Given the description of an element on the screen output the (x, y) to click on. 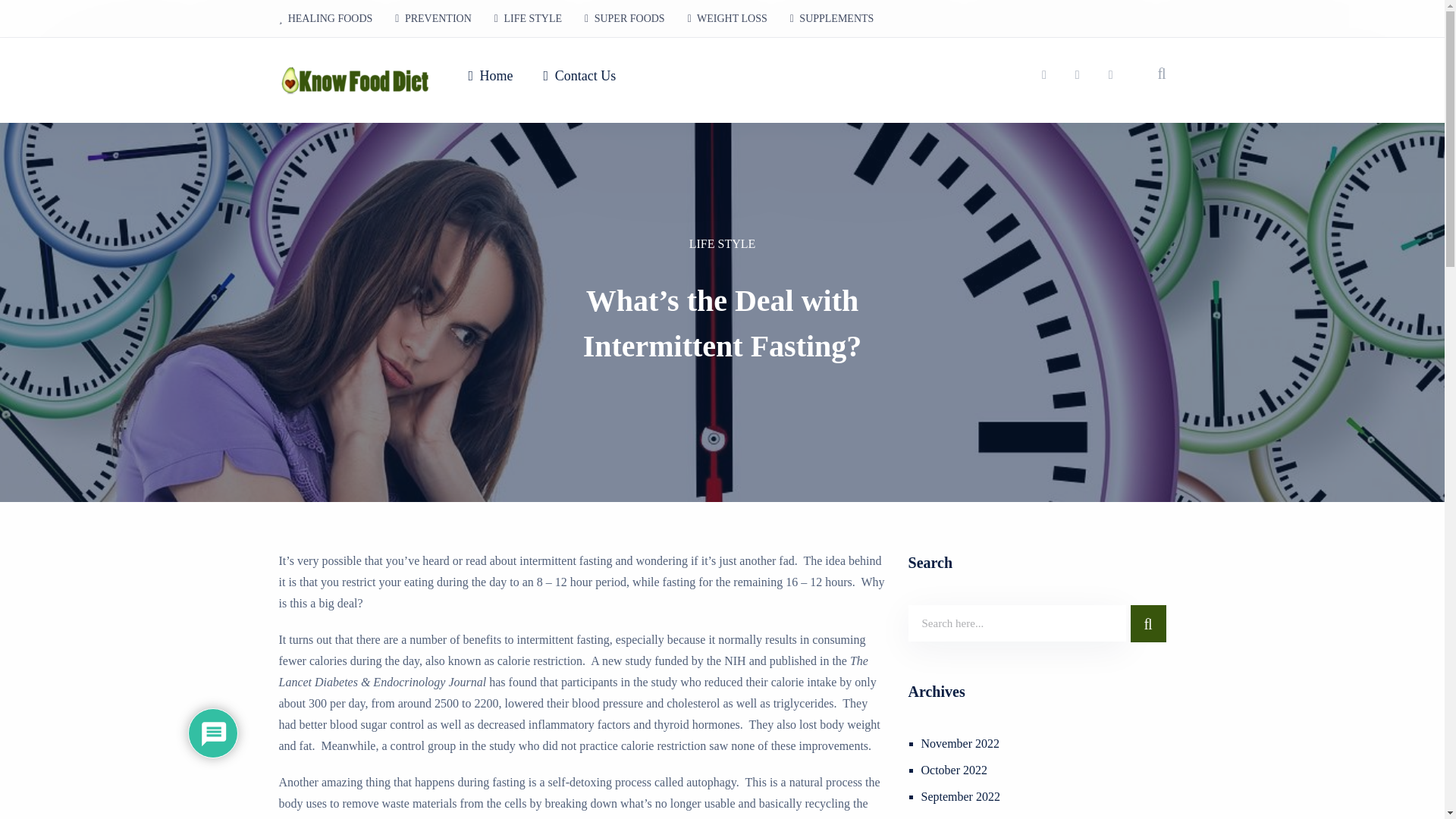
Contact Us (579, 75)
LIFE STYLE (528, 18)
HEALING FOODS (331, 18)
SUPPLEMENTS (826, 18)
SUPER FOODS (625, 18)
View all posts in LIFE STYLE (722, 243)
LIFE STYLE (722, 243)
Home (490, 75)
Instagram (1044, 75)
PREVENTION (433, 18)
WEIGHT LOSS (727, 18)
Facebook (1077, 75)
Twitter (1110, 75)
